Given the description of an element on the screen output the (x, y) to click on. 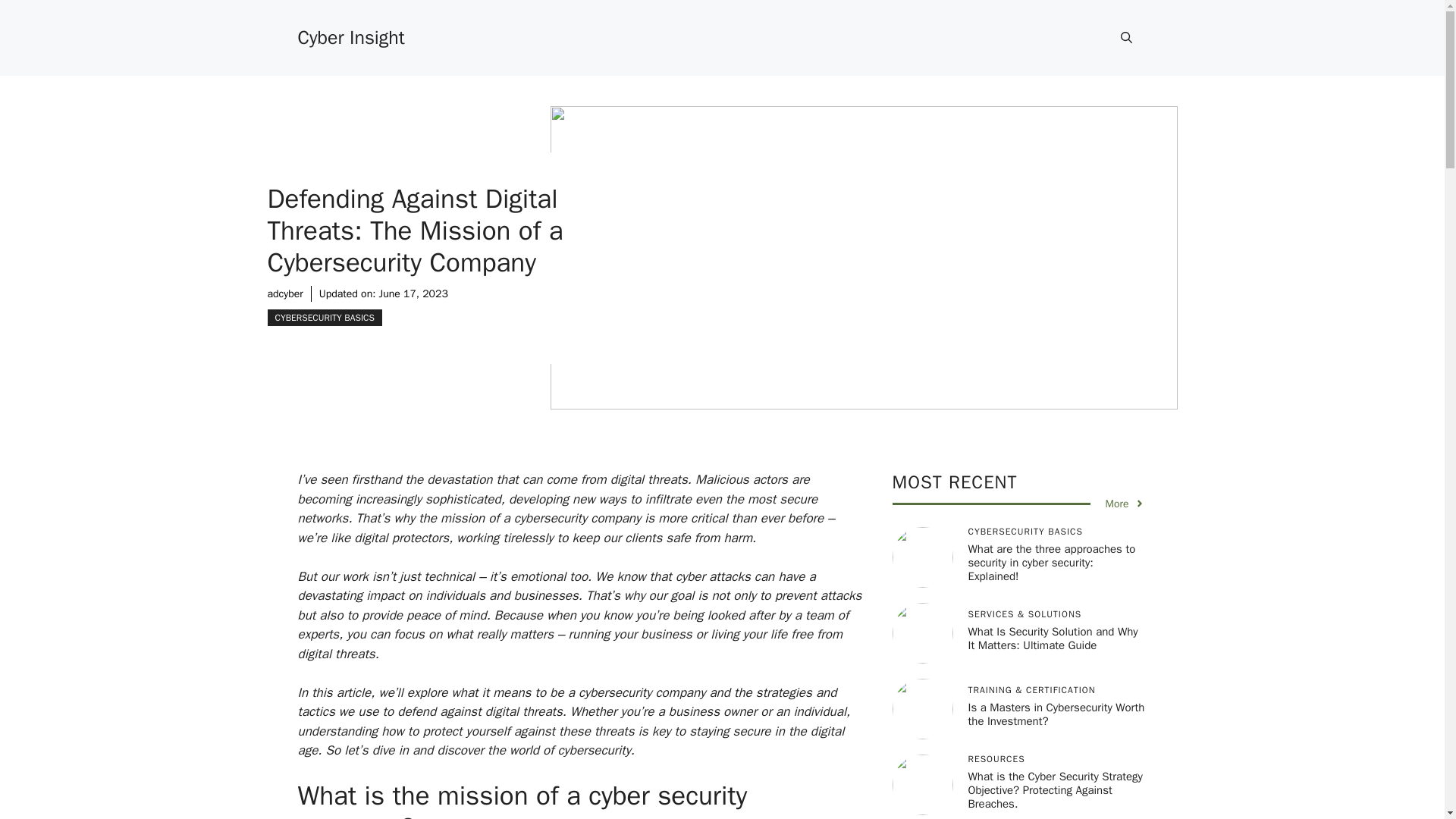
What Is Security Solution and Why It Matters: Ultimate Guide (1052, 637)
Cyber Insight (350, 37)
adcyber (284, 292)
CYBERSECURITY BASICS (323, 317)
More (1124, 503)
Is a Masters in Cybersecurity Worth the Investment? (1056, 714)
